Given the description of an element on the screen output the (x, y) to click on. 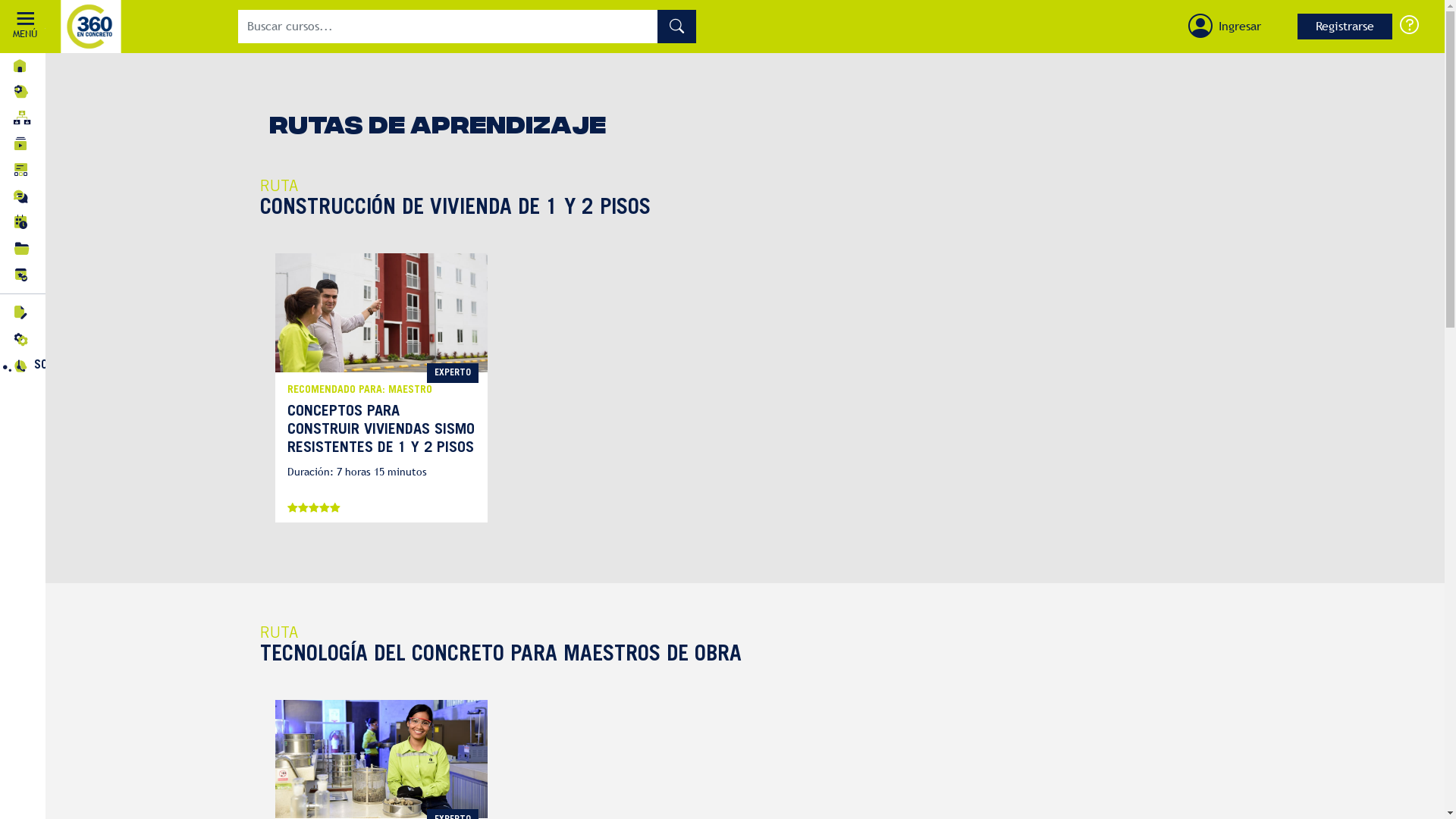
SOPORTE Element type: hover (1409, 24)
SOPORTE Element type: text (85, 365)
Registrarse Element type: text (1344, 26)
Ingresar Element type: text (1239, 26)
